Given the description of an element on the screen output the (x, y) to click on. 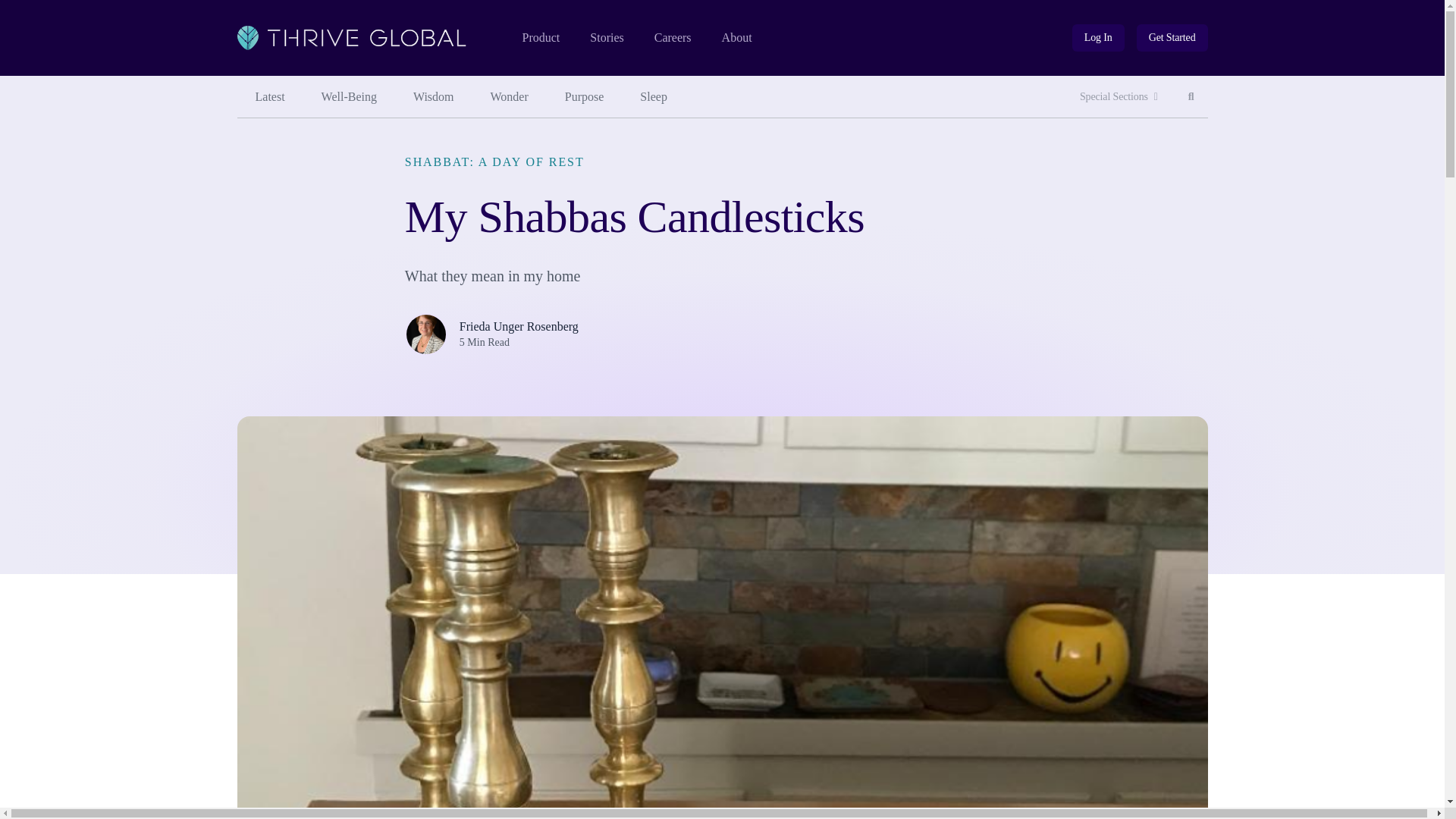
Well-Being (348, 96)
Get Started (1172, 37)
Purpose (585, 96)
Stories (606, 37)
About (737, 37)
Log In (1097, 37)
Wonder (509, 96)
btn-primary (1172, 37)
Latest (268, 96)
Special Sections (1118, 97)
Sleep (653, 96)
btn-info (1097, 37)
Careers (672, 37)
Product (540, 37)
Wisdom (432, 96)
